Given the description of an element on the screen output the (x, y) to click on. 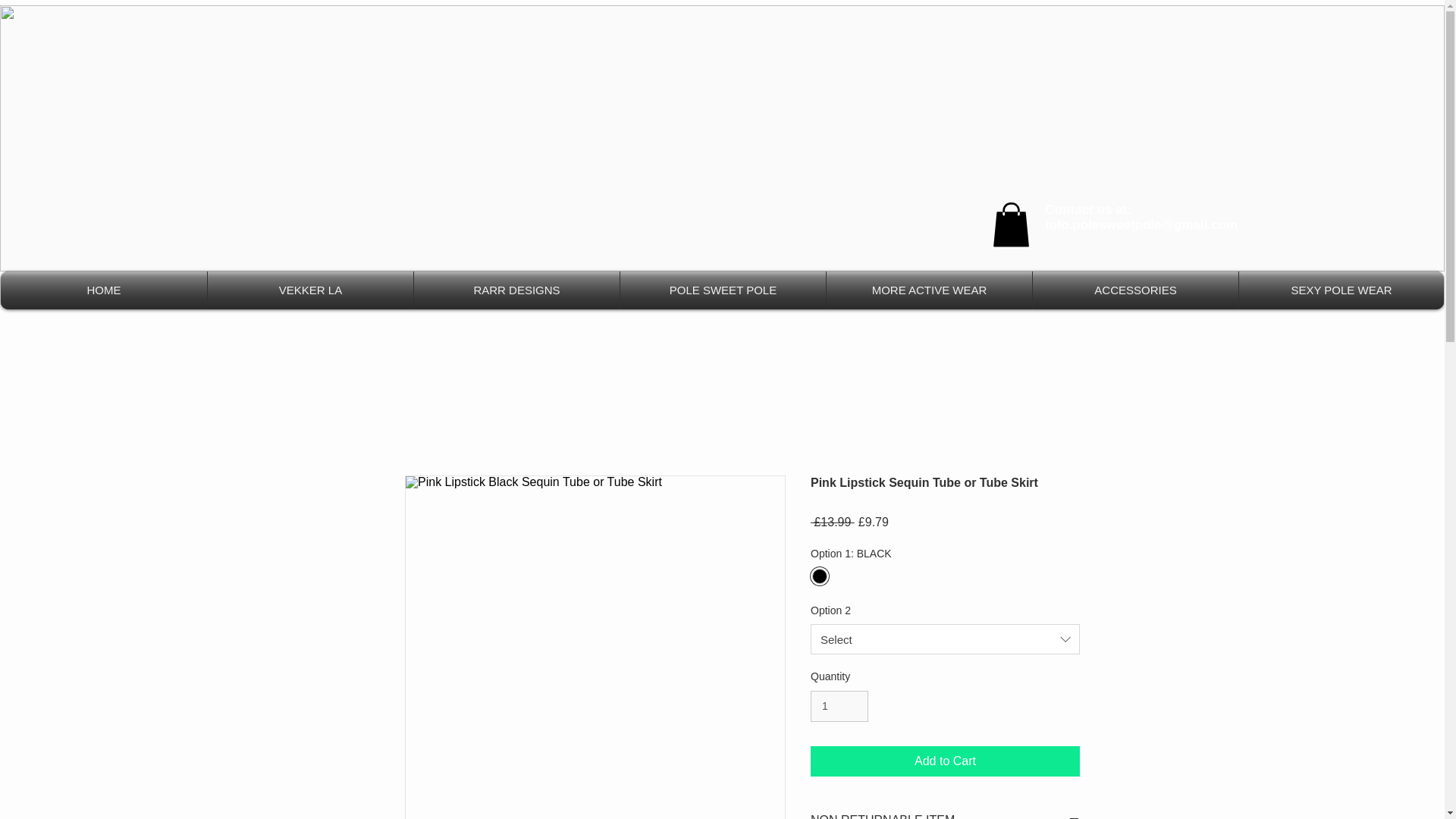
HOME (103, 290)
RARR DESIGNS (516, 290)
1 (838, 706)
VEKKER LA (310, 290)
